Given the description of an element on the screen output the (x, y) to click on. 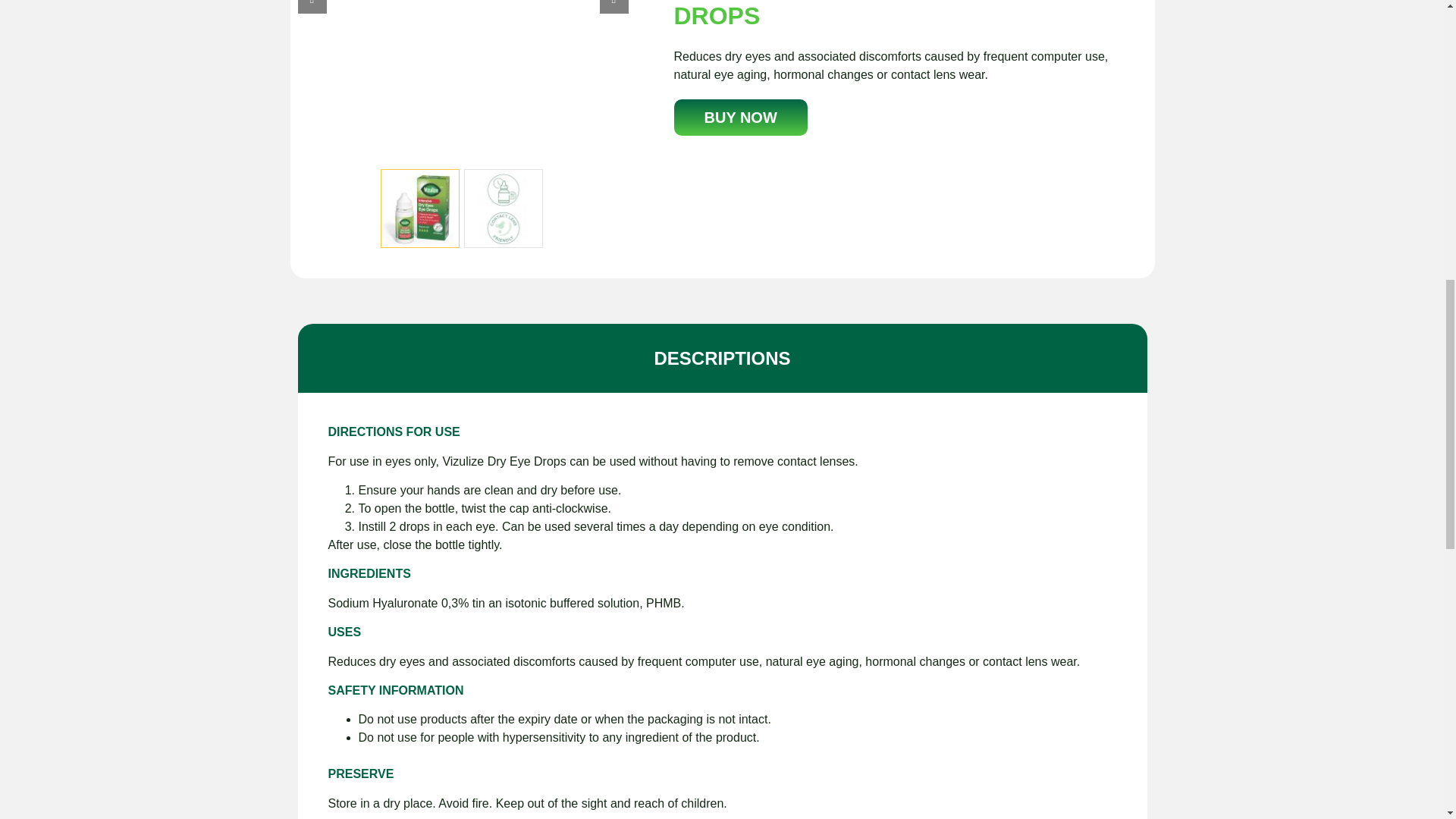
BUY NOW (739, 117)
